Given the description of an element on the screen output the (x, y) to click on. 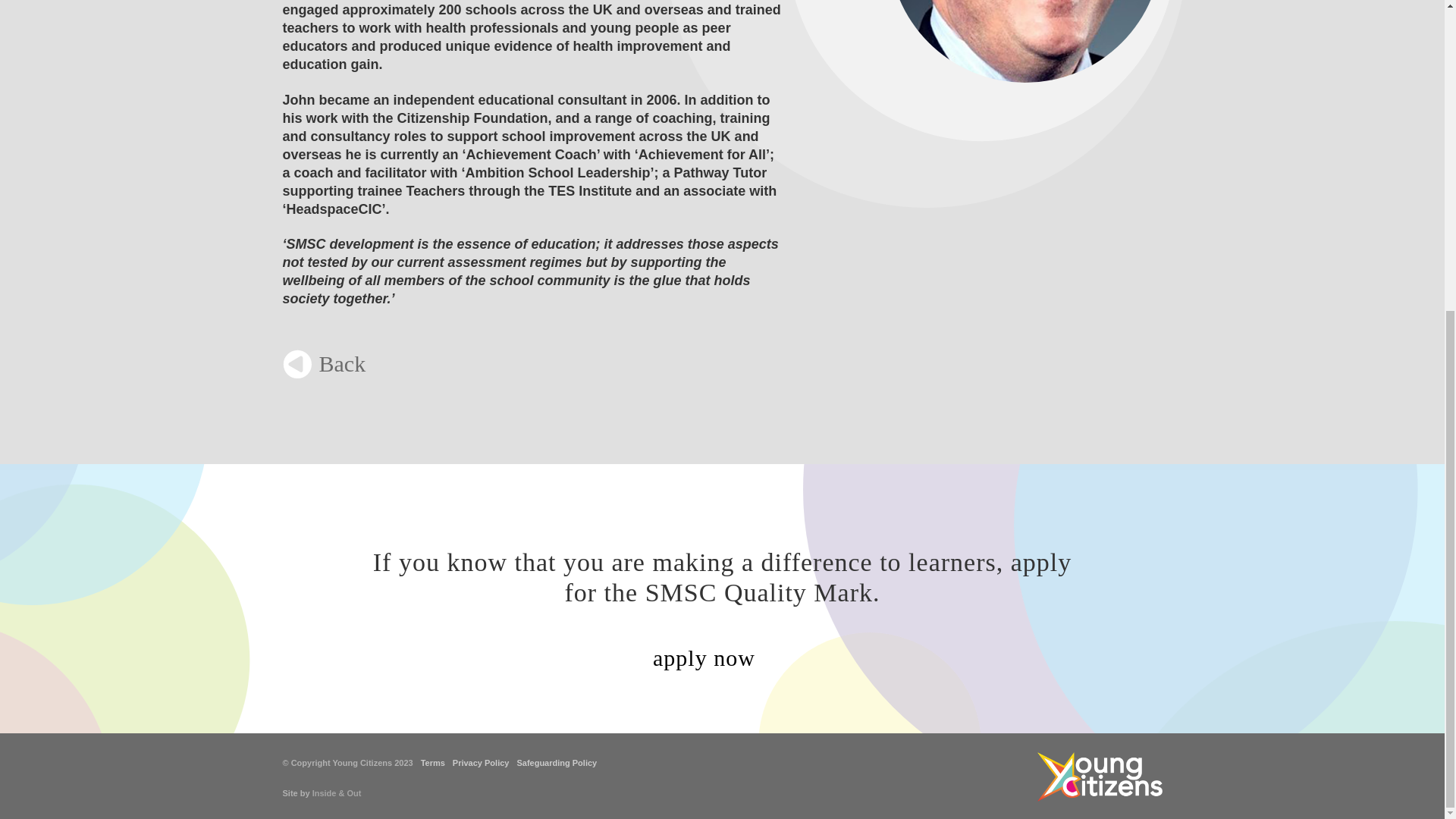
Back (323, 364)
apply now (722, 659)
Visit the Young Citizens Website (1098, 776)
Safeguarding Policy (556, 762)
Terms (432, 762)
Back (323, 364)
Privacy Policy (480, 762)
